Given the description of an element on the screen output the (x, y) to click on. 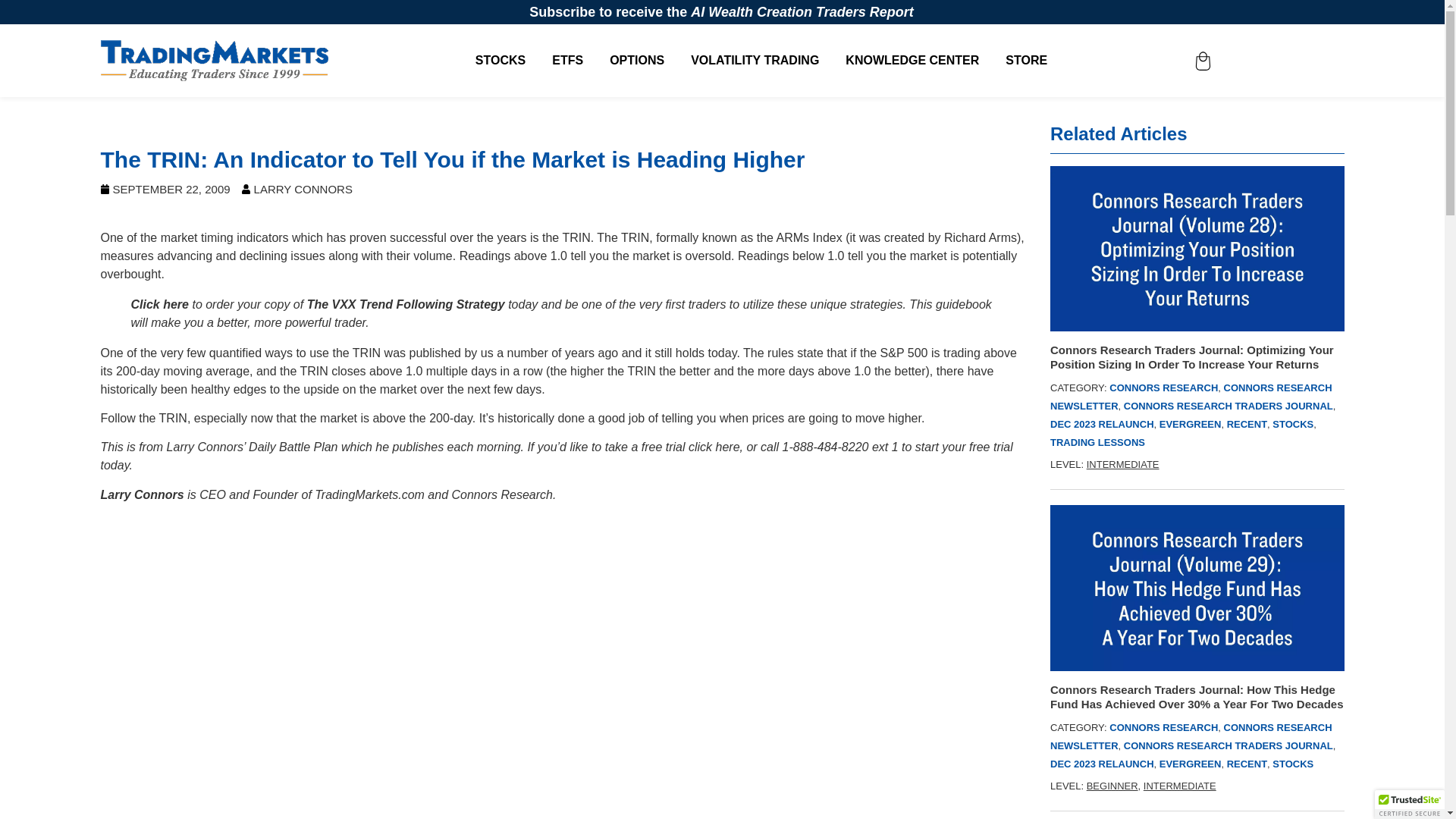
Subscribe to receive the AI Wealth Creation Traders Report (722, 11)
INTERMEDIATE (1122, 464)
EVERGREEN (1189, 763)
CONNORS RESEARCH TRADERS JOURNAL (1228, 405)
STOCKS (1292, 423)
CONNORS RESEARCH NEWSLETTER (1190, 736)
CONNORS RESEARCH (1163, 727)
TRADING LESSONS (1096, 441)
KNOWLEDGE CENTER (911, 60)
RECENT (1246, 423)
DEC 2023 RELAUNCH (1101, 423)
VOLATILITY TRADING (754, 60)
CONNORS RESEARCH NEWSLETTER (1190, 396)
DEC 2023 RELAUNCH (1101, 763)
